Given the description of an element on the screen output the (x, y) to click on. 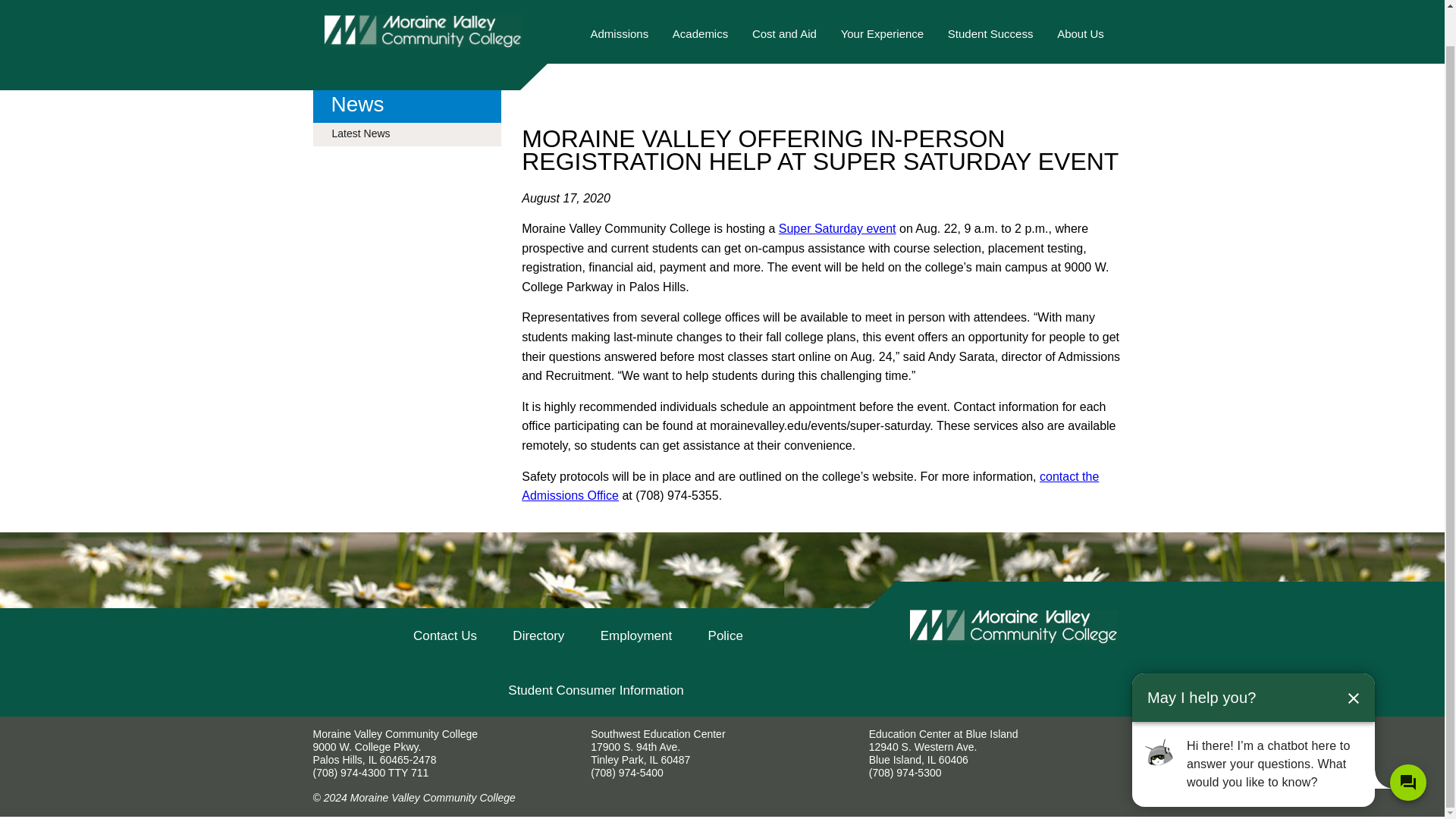
Academics (699, 40)
Admissions (619, 40)
